Given the description of an element on the screen output the (x, y) to click on. 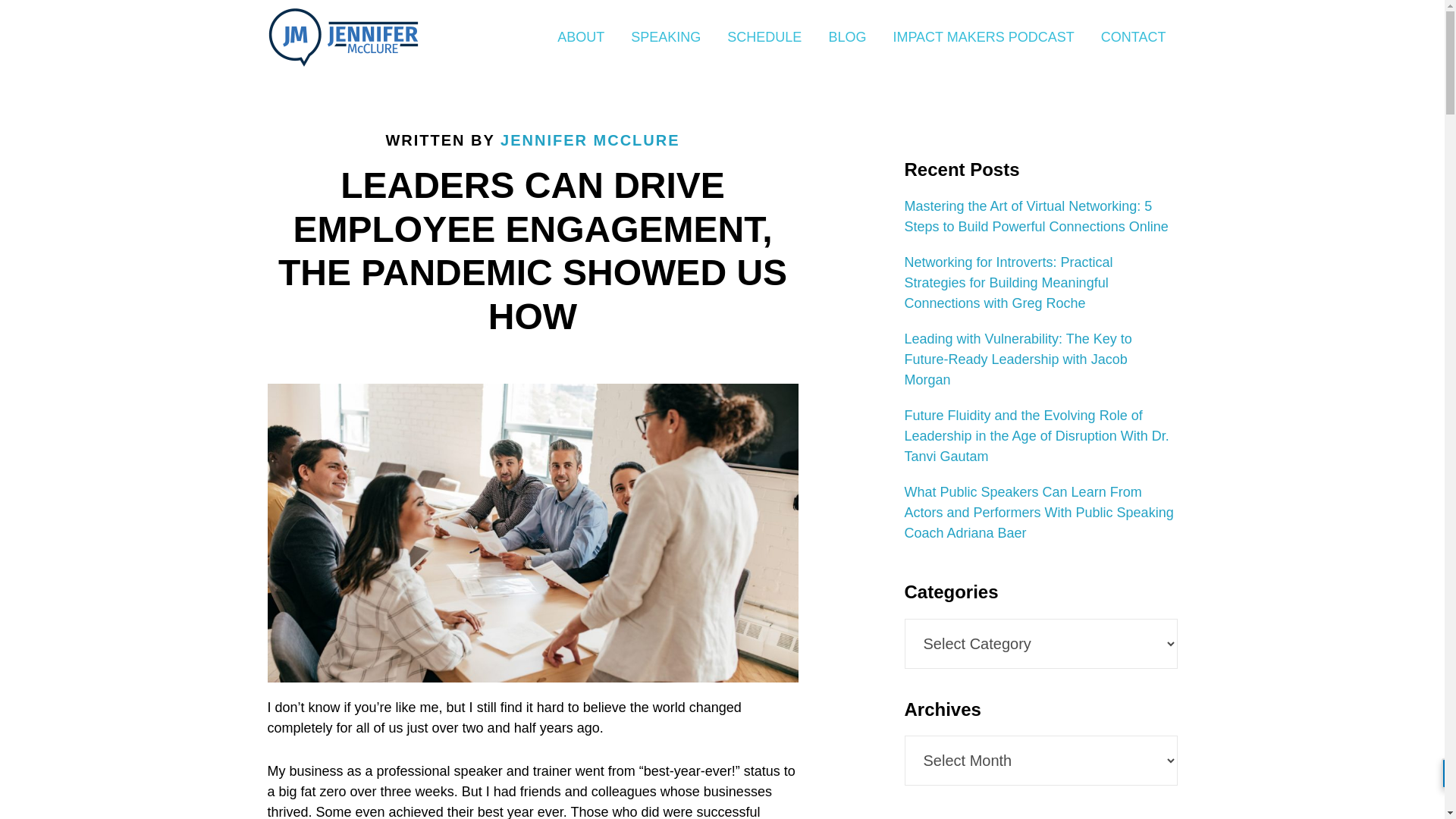
IMPACT MAKERS PODCAST (982, 38)
ABOUT (580, 38)
SPEAKING (665, 38)
JENNIFER MCCLURE (589, 139)
CONTACT (1133, 38)
SCHEDULE (764, 38)
